Given the description of an element on the screen output the (x, y) to click on. 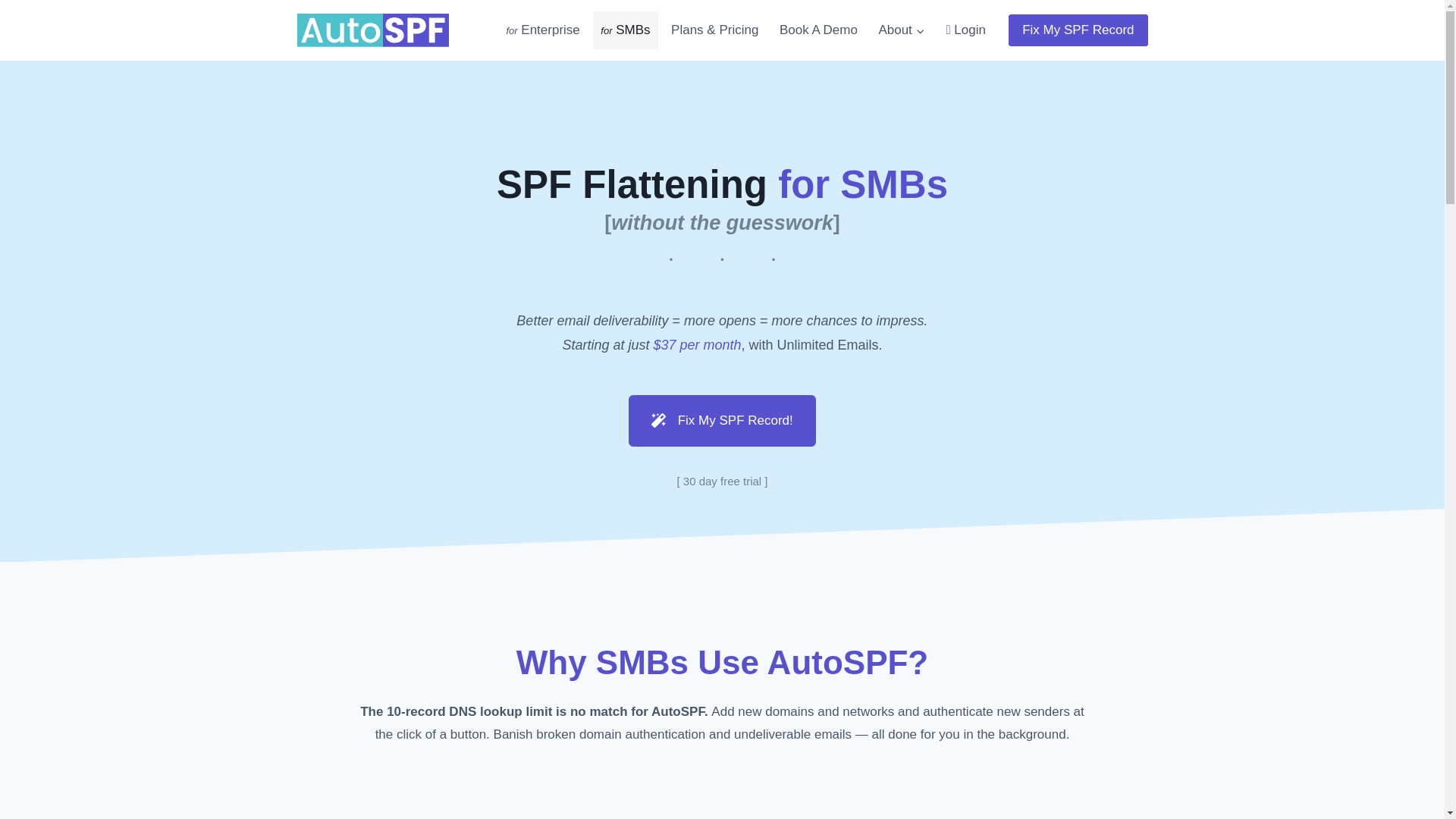
Fix My SPF Record! (721, 419)
Book A Demo (817, 30)
Login (964, 30)
for SMBs (625, 30)
for Enterprise (542, 30)
Fix My SPF Record (1078, 30)
About (901, 30)
